Given the description of an element on the screen output the (x, y) to click on. 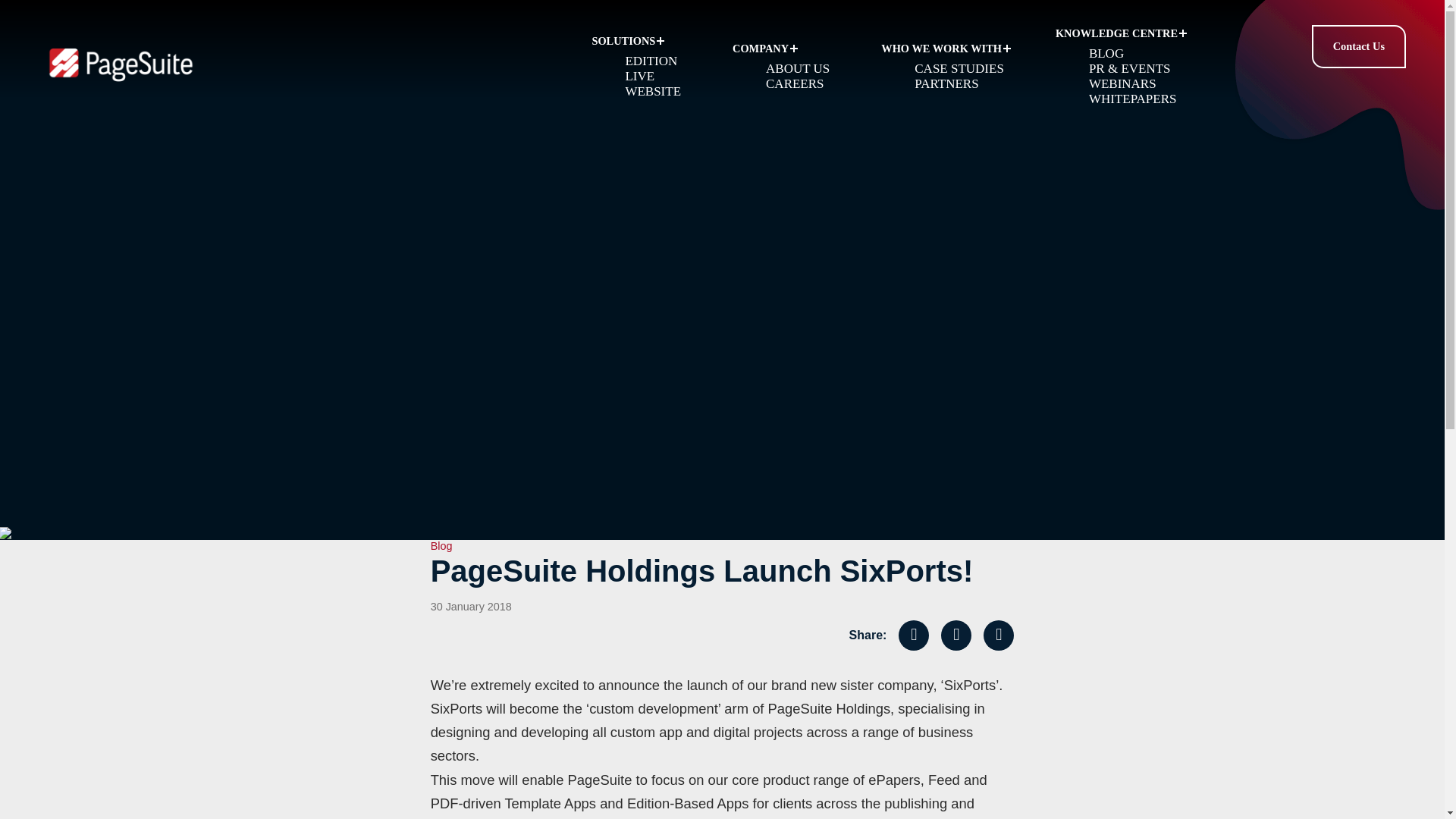
Contact Us (1358, 46)
EDITION (650, 60)
LIVE (638, 75)
BLOG (1106, 52)
KNOWLEDGE CENTRE (1120, 33)
WHITEPAPERS (1132, 98)
WHO WE WORK WITH (947, 48)
CASE STUDIES (959, 68)
PARTNERS (946, 83)
COMPANY (785, 48)
WEBSITE (652, 91)
WEBINARS (1122, 83)
SOLUTIONS (640, 41)
CAREERS (794, 83)
ABOUT US (797, 68)
